Given the description of an element on the screen output the (x, y) to click on. 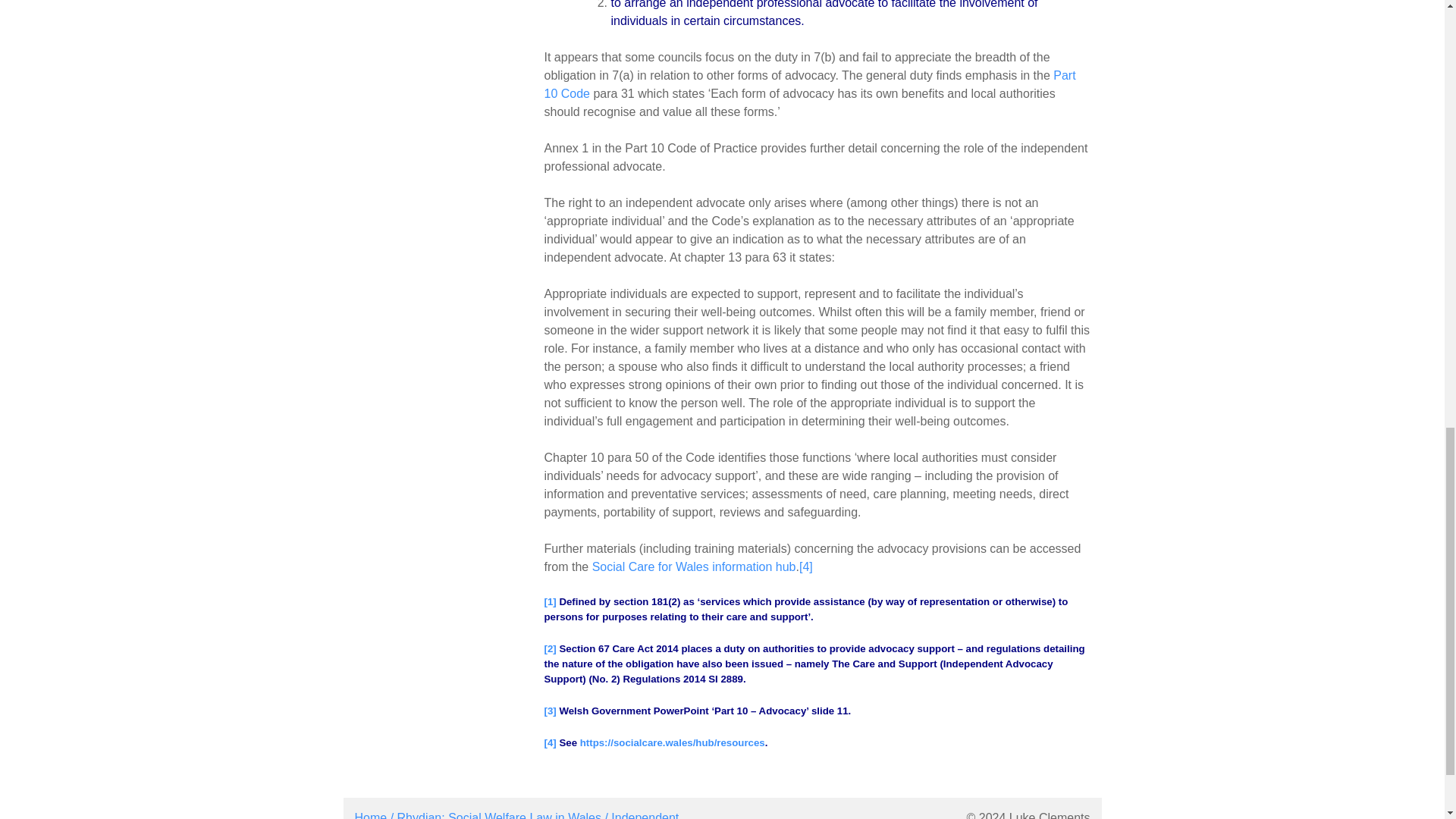
Social Care for Wales information hub (694, 566)
Part 10 Code (809, 83)
